Given the description of an element on the screen output the (x, y) to click on. 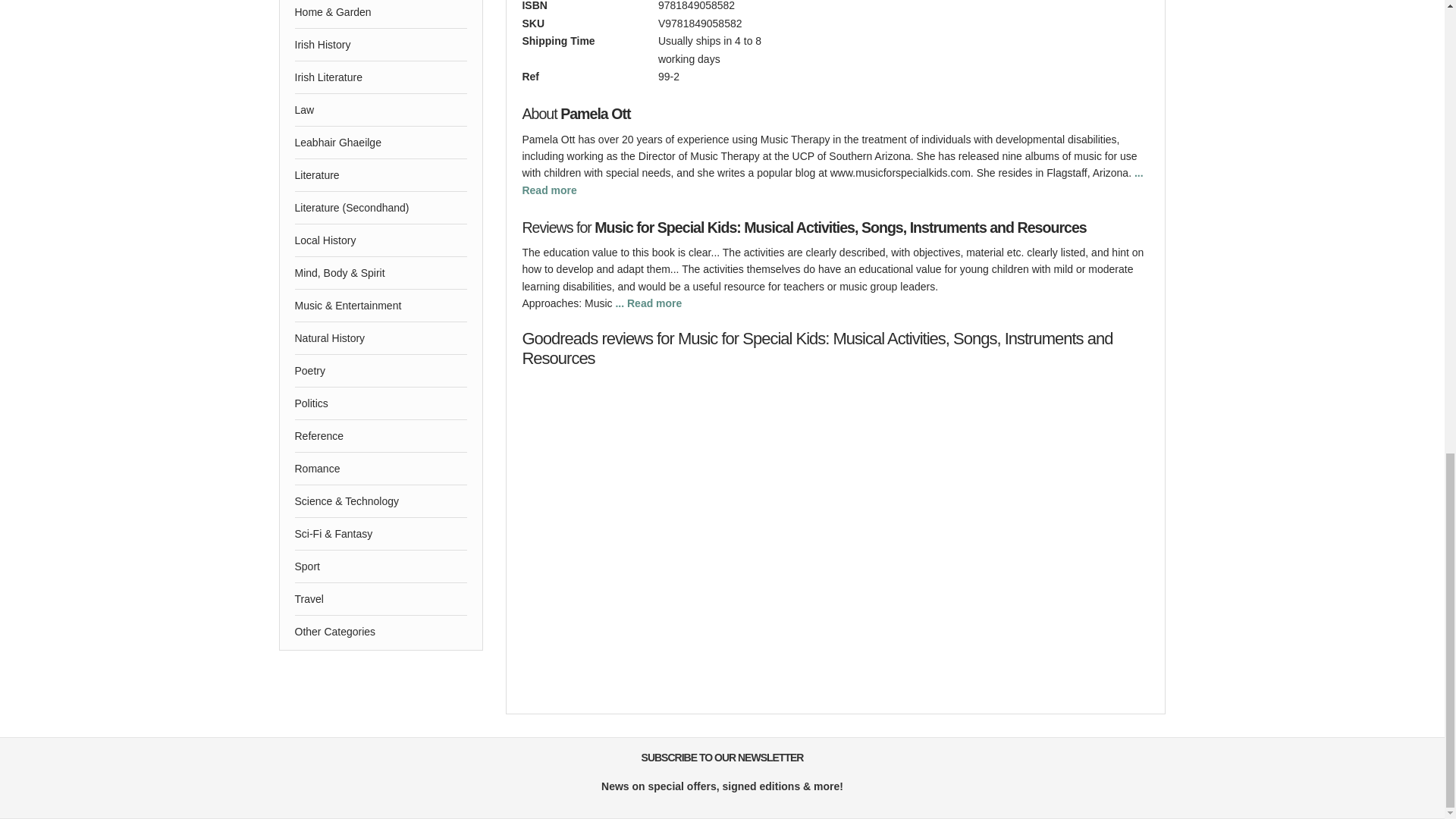
Irish History (380, 44)
Law (380, 110)
Leabhair Gaeilge (380, 142)
Irish Literature (380, 77)
